Given the description of an element on the screen output the (x, y) to click on. 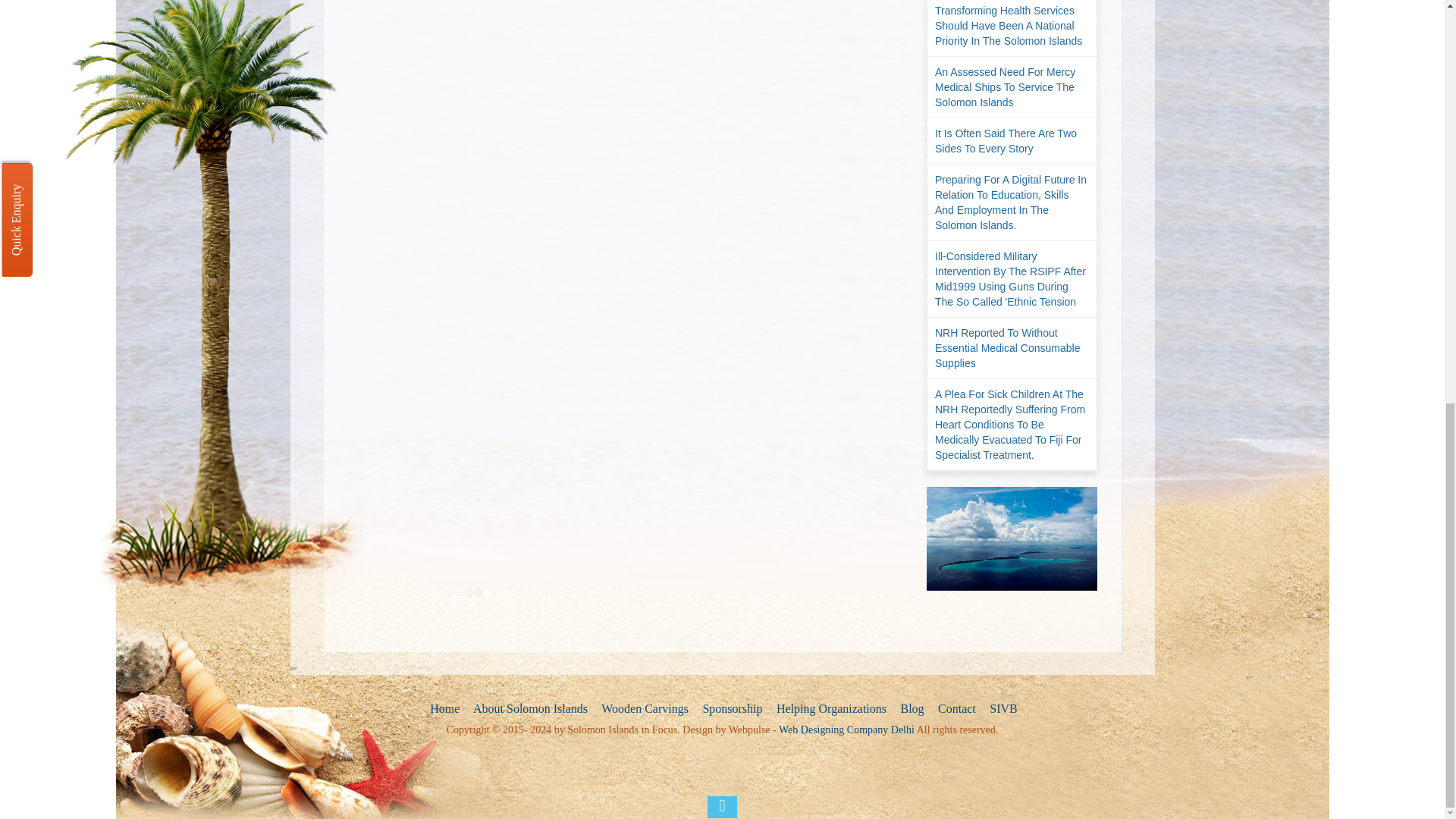
Sponsorship (729, 709)
Wooden Carvings (643, 709)
About Solomon Islands (529, 709)
It Is Often Said There Are Two Sides To Every Story (1011, 140)
Home (443, 709)
